Given the description of an element on the screen output the (x, y) to click on. 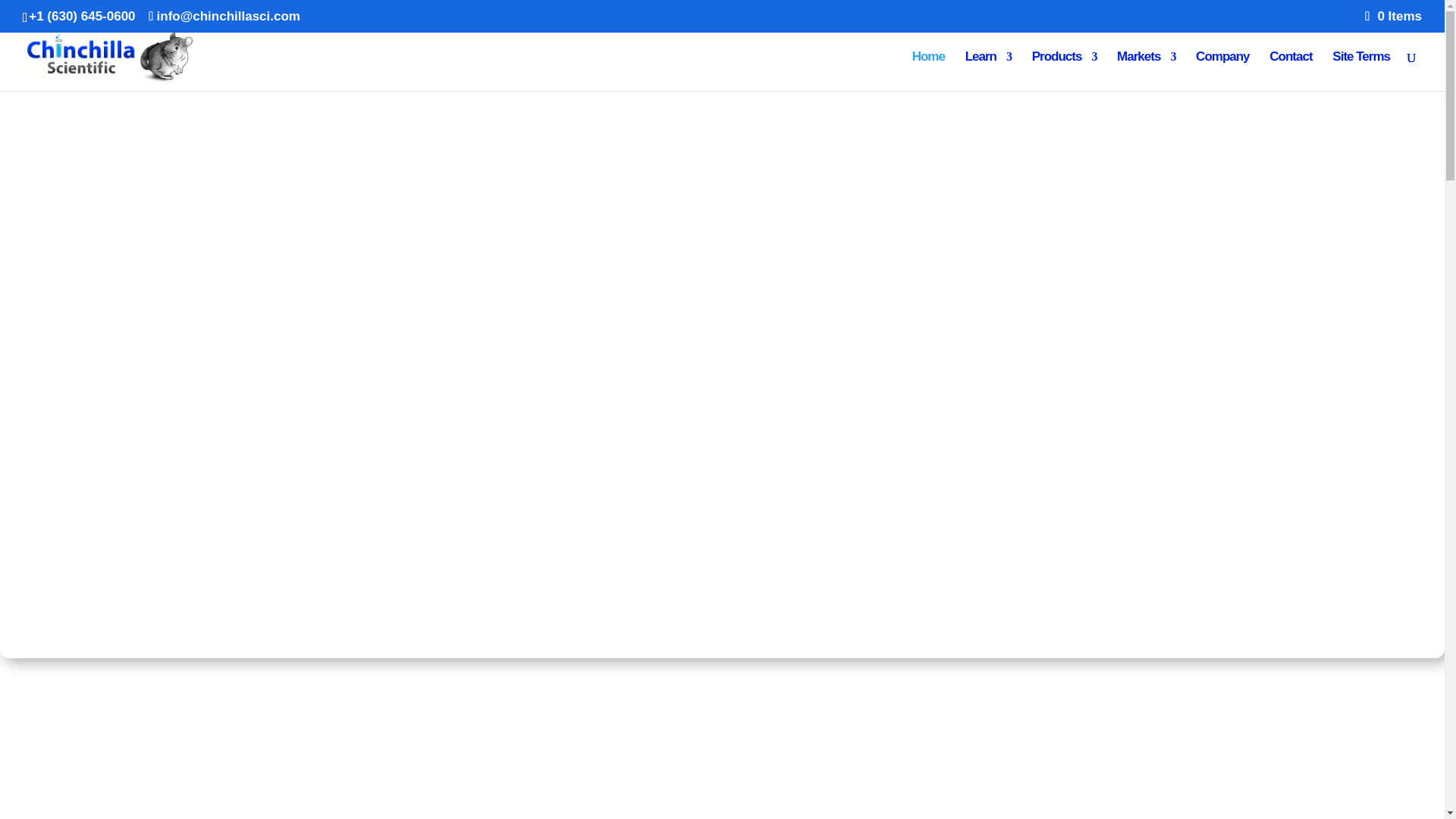
Markets (1145, 70)
Site Terms (1361, 70)
Contact (1290, 70)
0 Items (1393, 16)
Products (1064, 70)
Learn (988, 70)
Company (1222, 70)
